Given the description of an element on the screen output the (x, y) to click on. 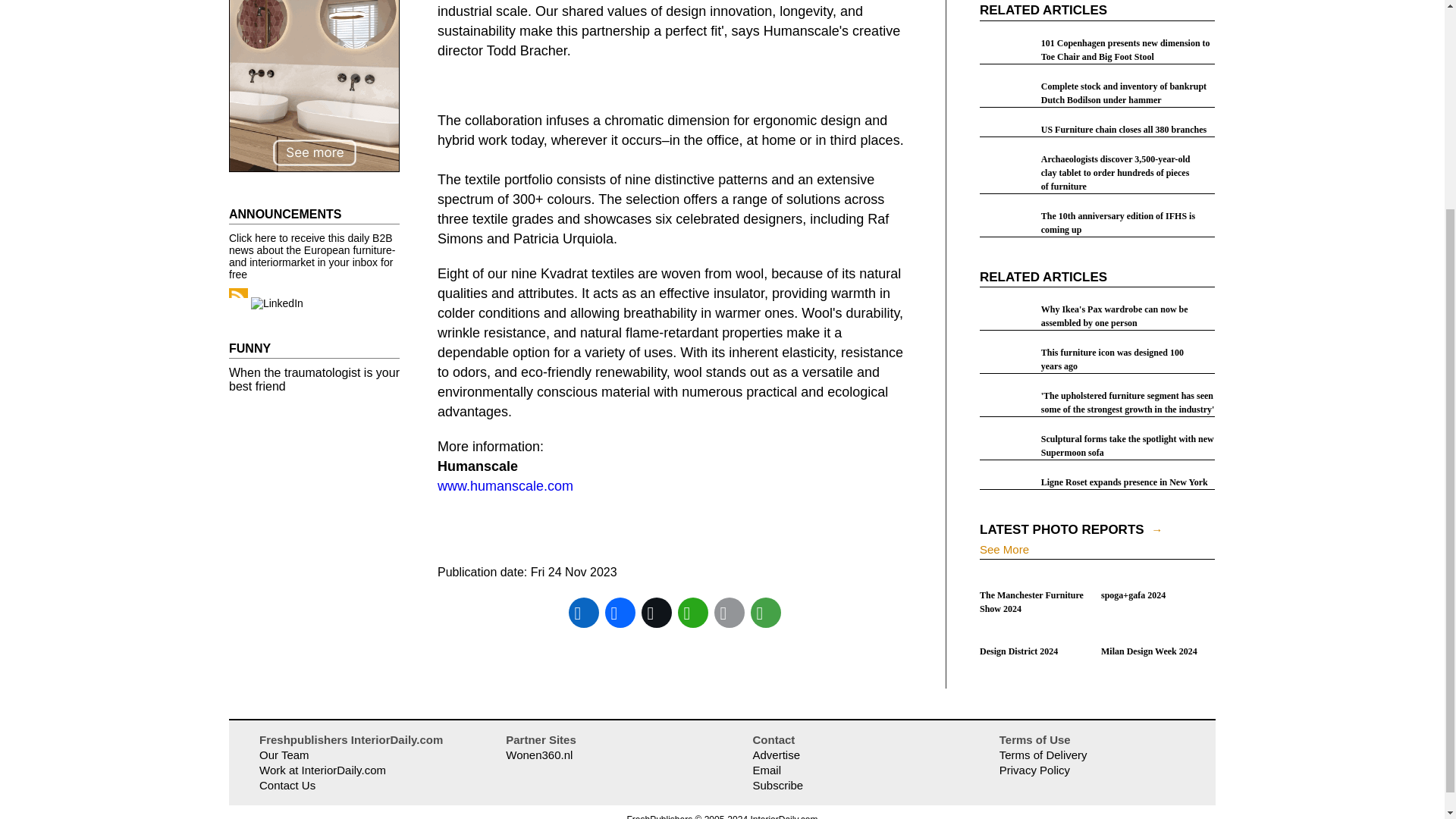
LinkedIn (584, 612)
When the traumatologist is your best friend (313, 379)
Email This (729, 612)
www.humanscale.com (505, 485)
WhatsApp (693, 612)
Facebook (620, 612)
More Options (766, 612)
